Given the description of an element on the screen output the (x, y) to click on. 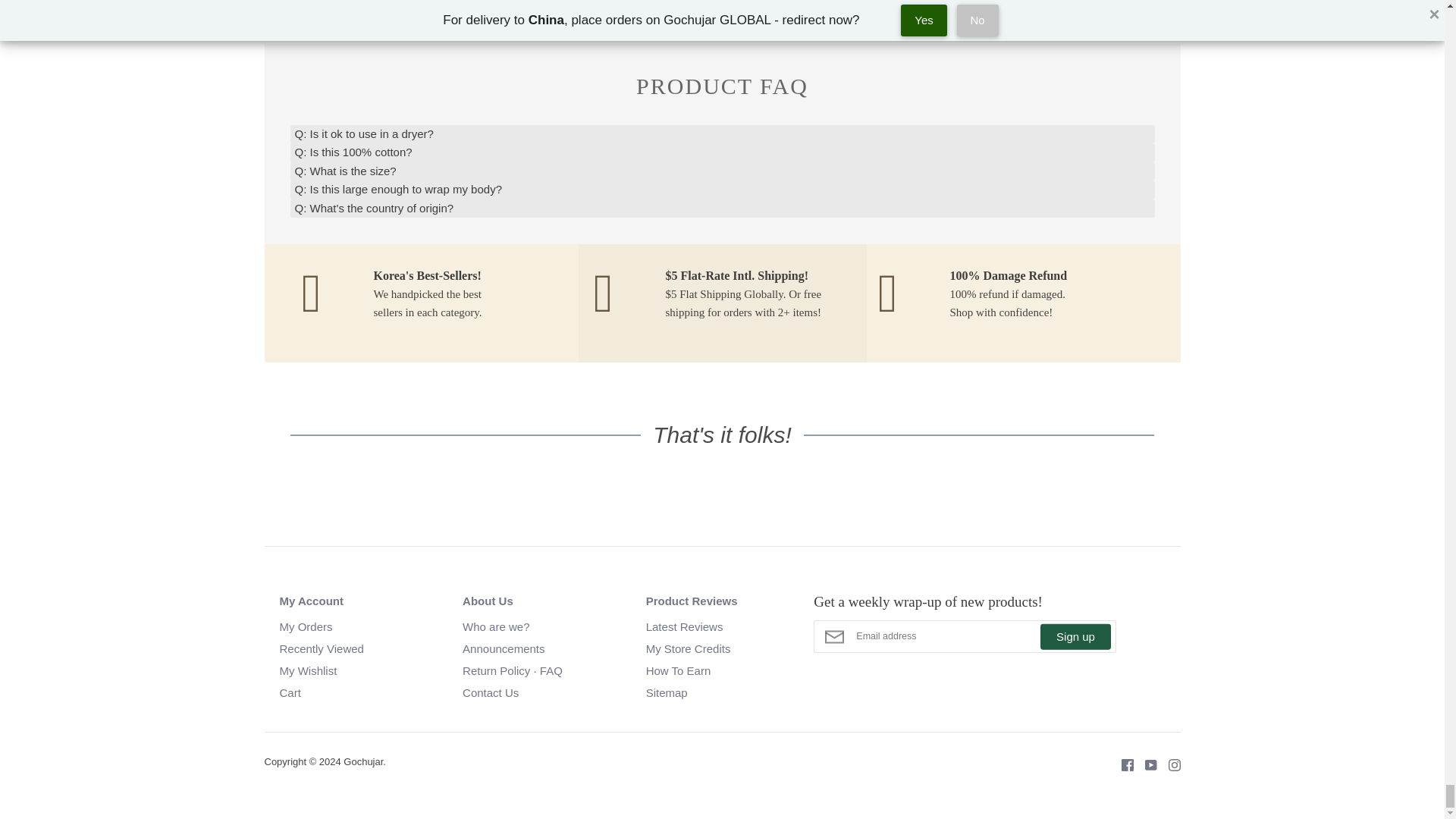
Youtube (1144, 763)
Facebook (1121, 763)
Instagram (1168, 763)
